Given the description of an element on the screen output the (x, y) to click on. 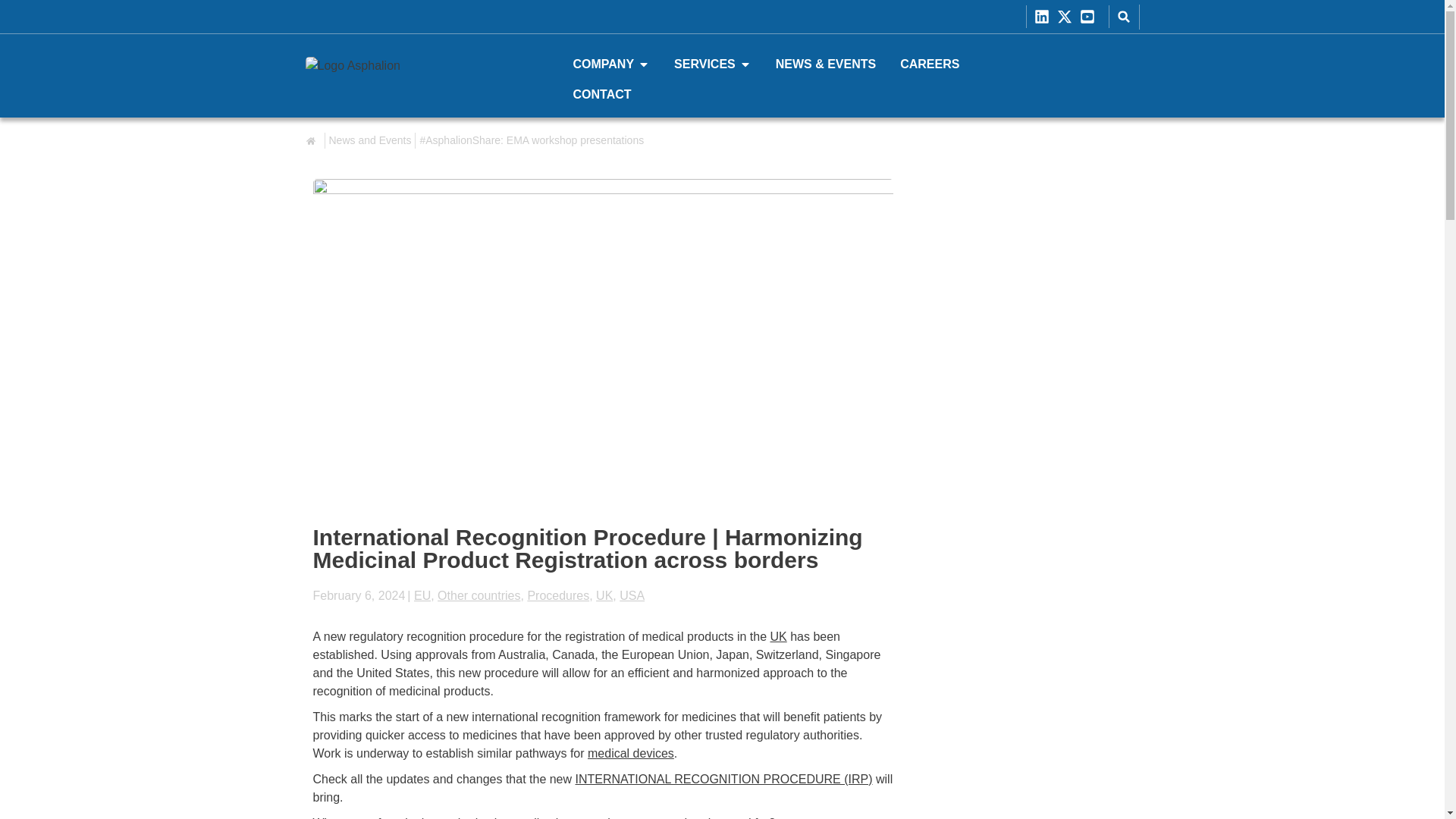
Go to Youtube (1091, 16)
Go to Homepage (399, 75)
Go to LinkedIn (1045, 16)
Go to Twitter (1068, 16)
